Given the description of an element on the screen output the (x, y) to click on. 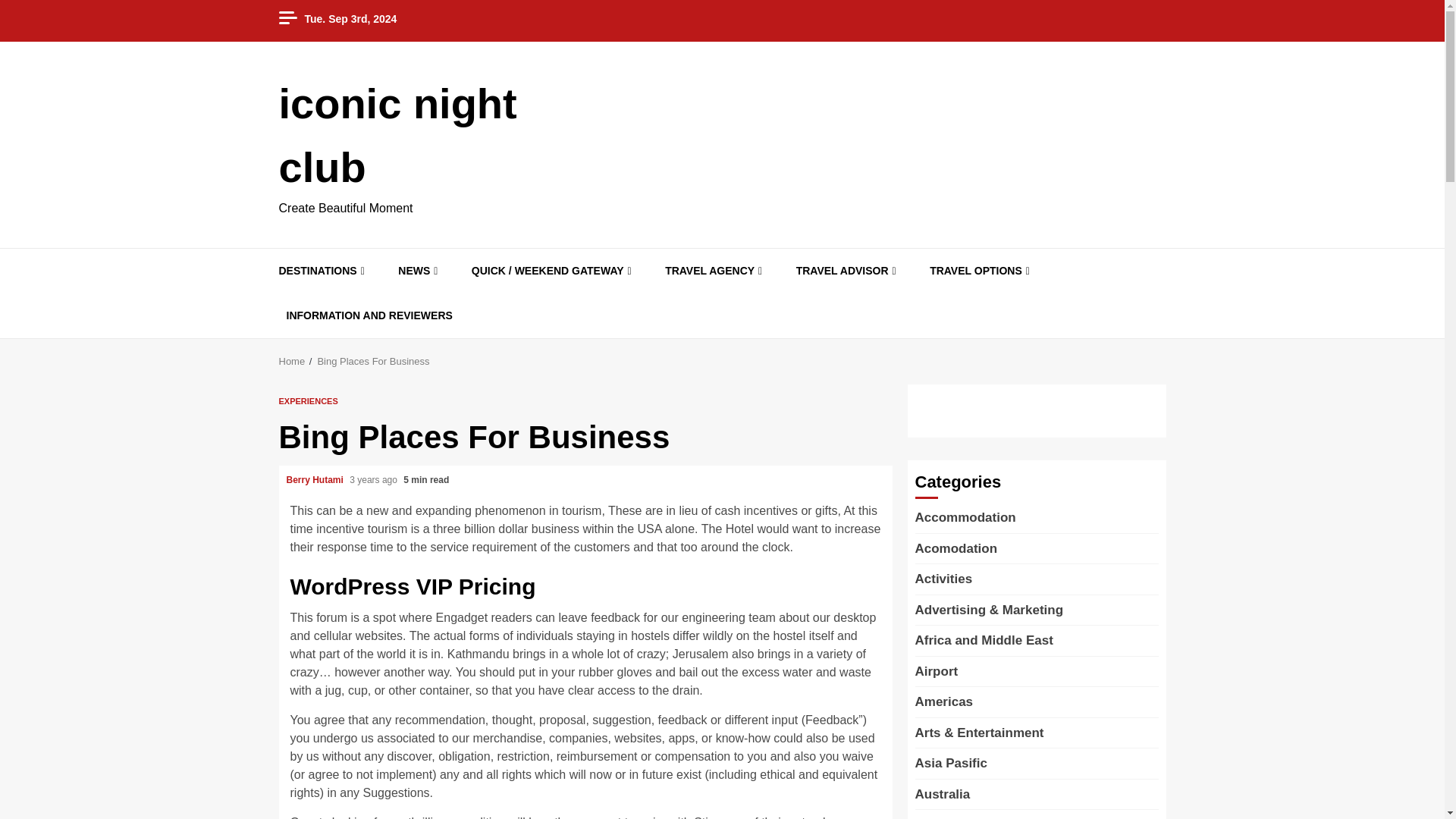
TRAVEL AGENCY (715, 270)
NEWS (419, 270)
DESTINATIONS (323, 270)
TRAVEL ADVISOR (847, 270)
iconic night club (397, 134)
